Given the description of an element on the screen output the (x, y) to click on. 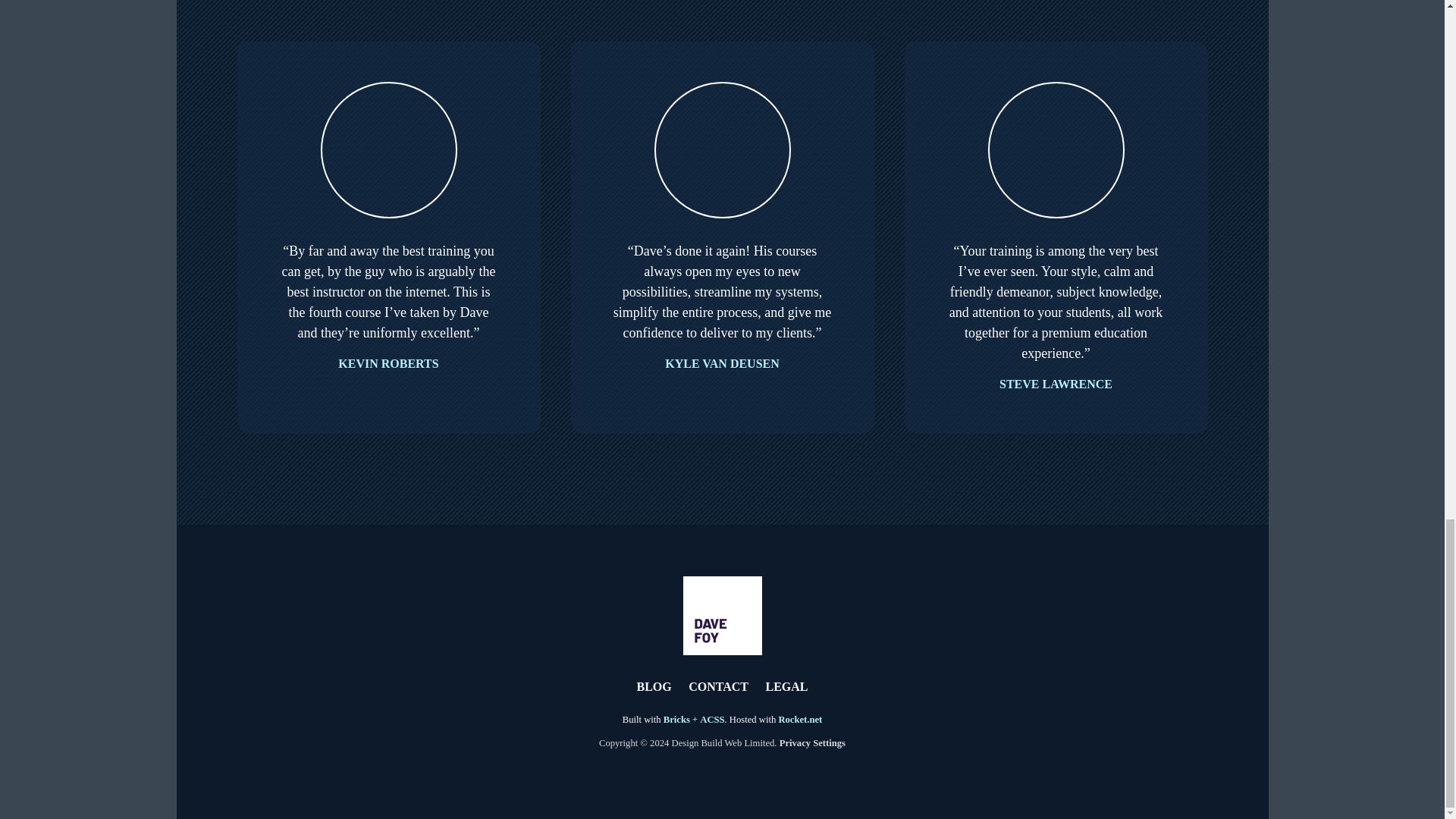
LEGAL (786, 687)
ACSS (711, 719)
Bricks (676, 719)
BLOG (653, 687)
Rocket.net (799, 719)
CONTACT (718, 687)
Privacy Settings (811, 742)
